Given the description of an element on the screen output the (x, y) to click on. 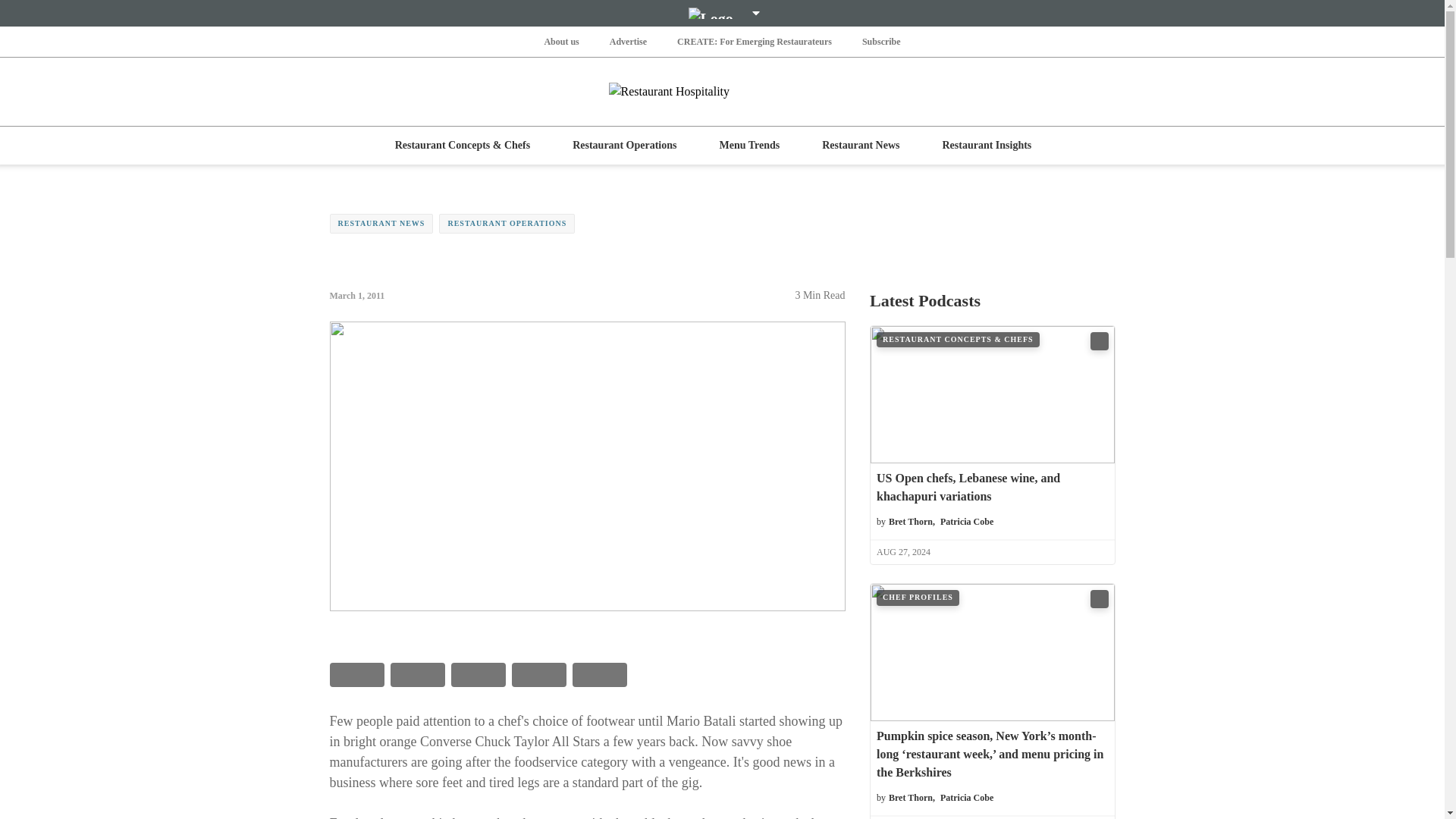
CREATE: For Emerging Restaurateurs (754, 41)
Restaurant Hospitality (721, 91)
About us (560, 41)
Advertise (628, 41)
Subscribe (881, 41)
